Given the description of an element on the screen output the (x, y) to click on. 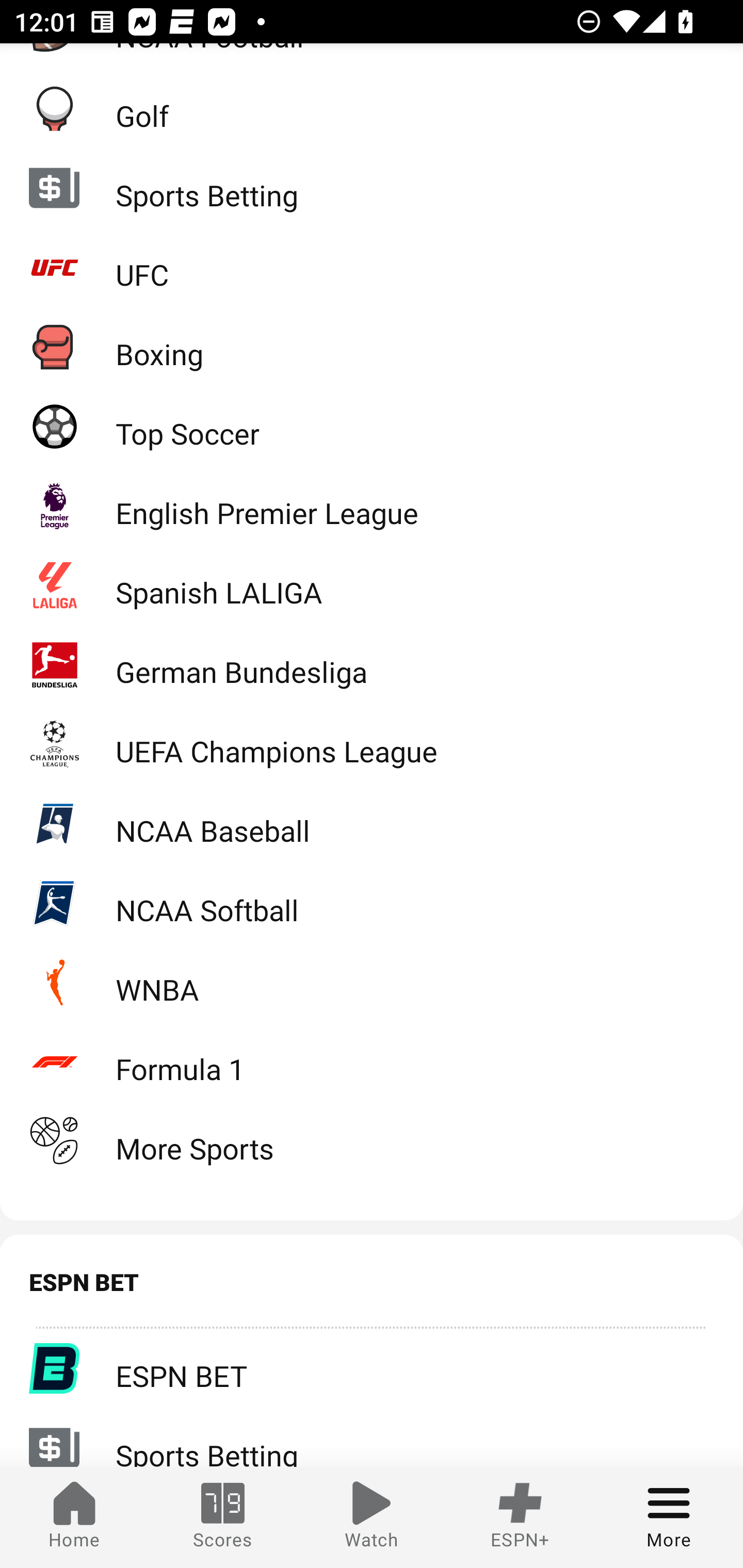
Golf (371, 107)
Sports Betting (371, 187)
UFC (371, 267)
Boxing (371, 346)
Top Soccer (371, 425)
English Premier League (371, 505)
Spanish LALIGA (371, 584)
German Bundesliga (371, 664)
UEFA Champions League (371, 744)
NCAA Baseball (371, 823)
NCAA Softball (371, 902)
WNBA (371, 982)
Formula 1 (371, 1061)
More Sports A More Sports (371, 1140)
ESPN BET (371, 1368)
Sports Betting (371, 1437)
Home (74, 1517)
Scores (222, 1517)
Watch (371, 1517)
ESPN+ (519, 1517)
